Given the description of an element on the screen output the (x, y) to click on. 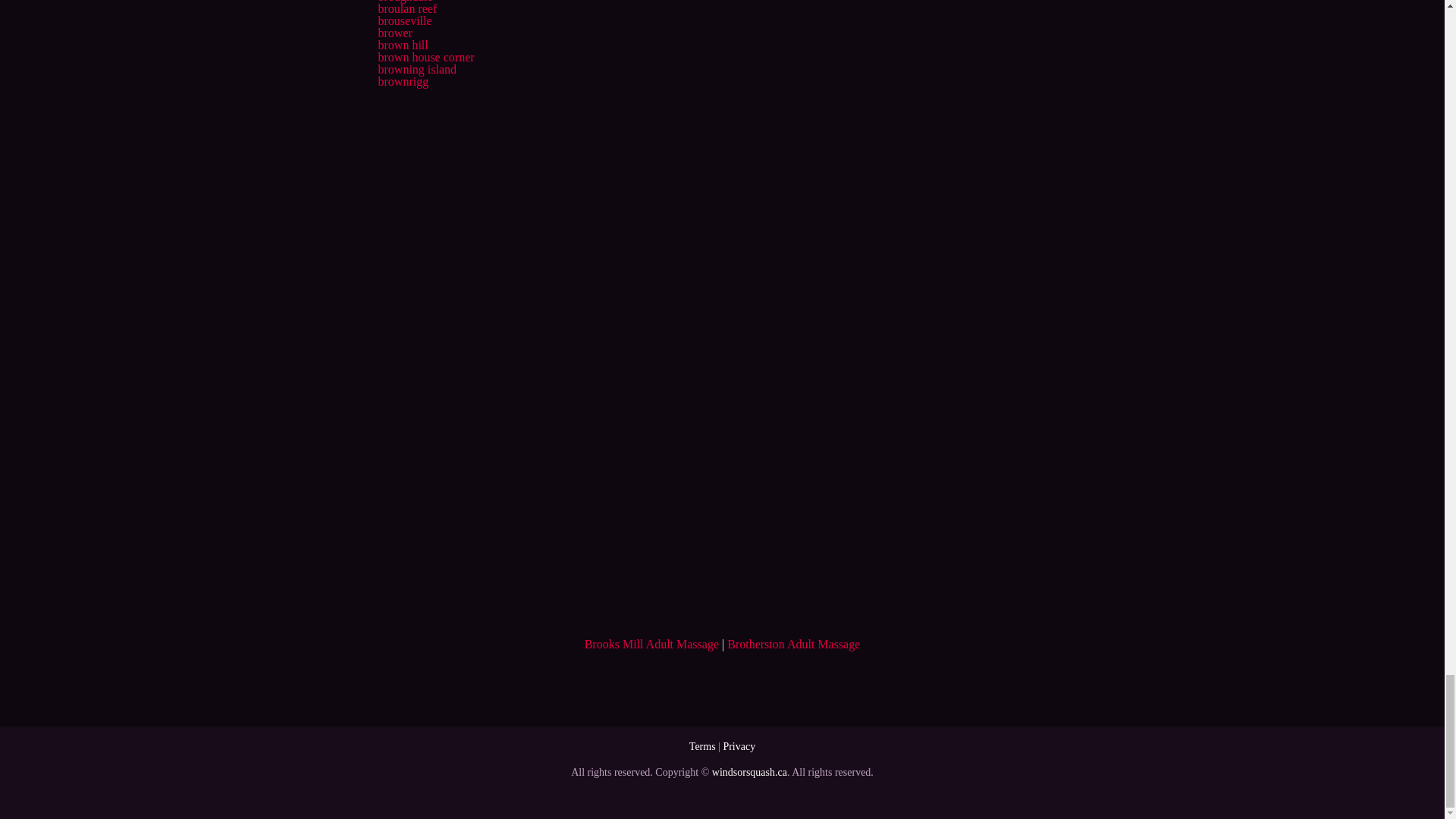
brower (394, 32)
brownrigg (402, 81)
windsorsquash.ca (749, 772)
Privacy (738, 746)
browning island (417, 69)
brouseville (403, 20)
brown hill (402, 44)
Terms (702, 746)
Brotherston Adult Massage (793, 644)
Brooks Mill Adult Massage (652, 644)
Terms (702, 746)
broulan reef (406, 8)
brown house corner (425, 56)
broughdale (404, 1)
Privacy (738, 746)
